Given the description of an element on the screen output the (x, y) to click on. 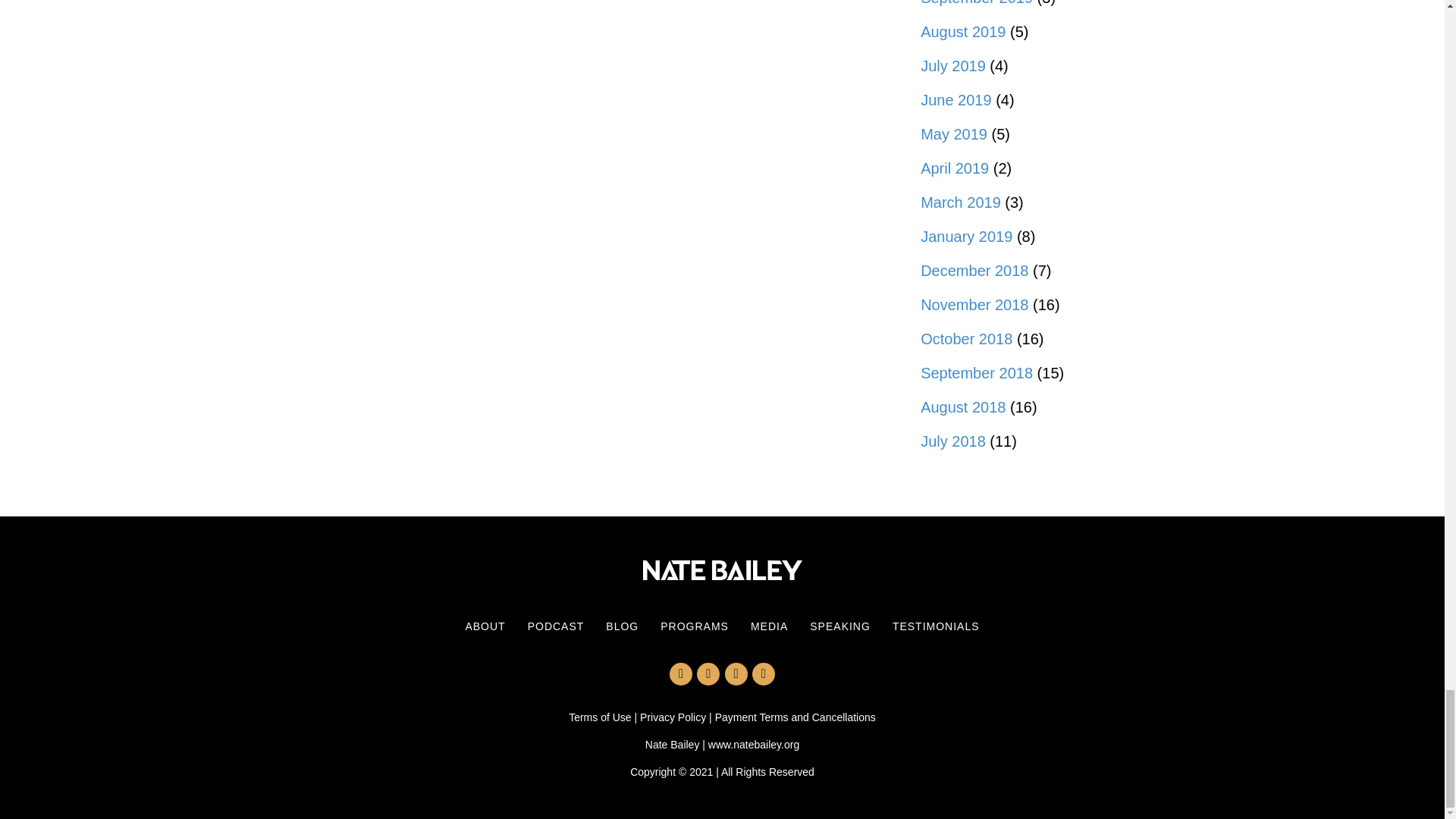
logo 2021 (722, 569)
